Given the description of an element on the screen output the (x, y) to click on. 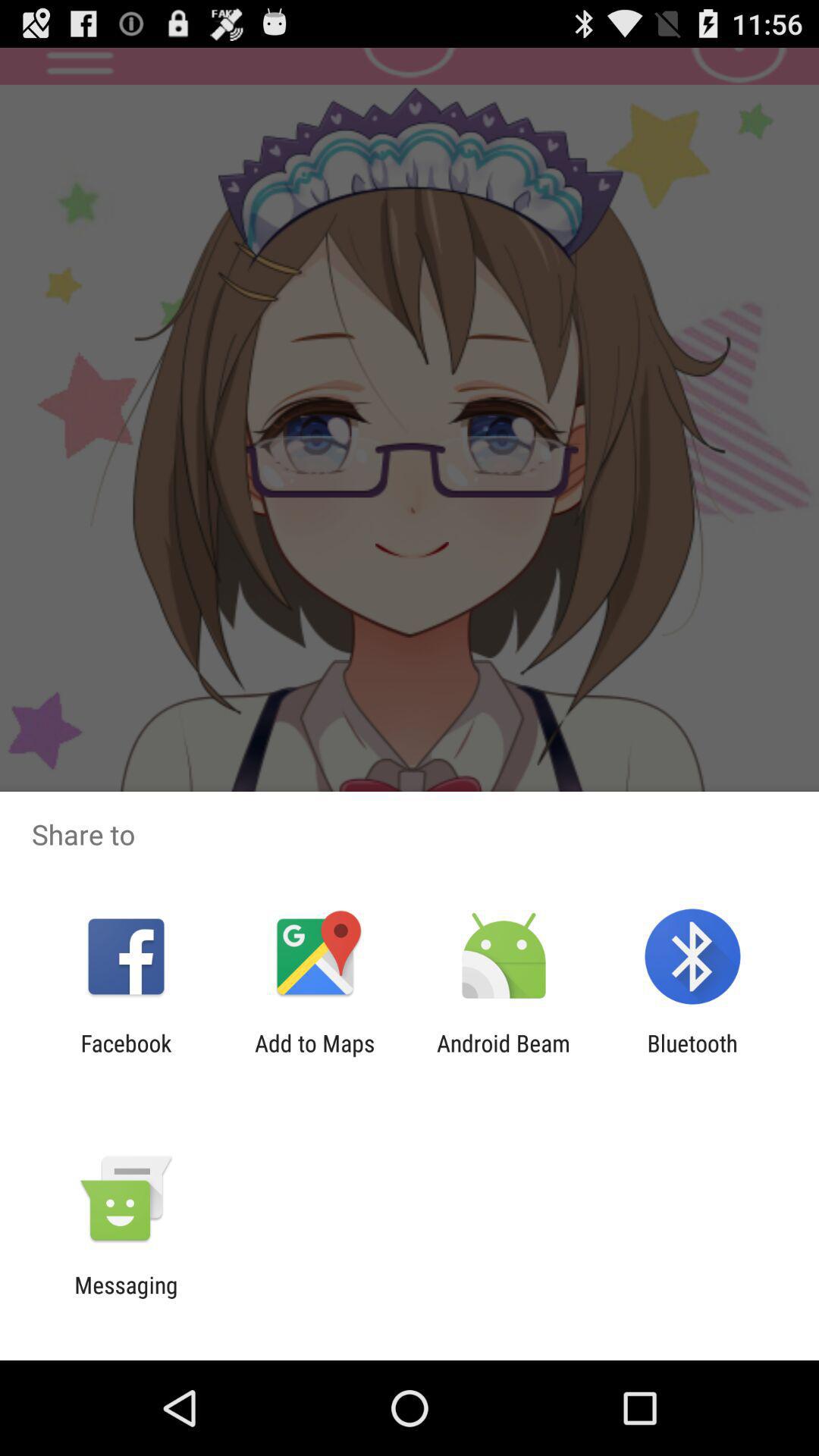
flip to the bluetooth app (692, 1056)
